Given the description of an element on the screen output the (x, y) to click on. 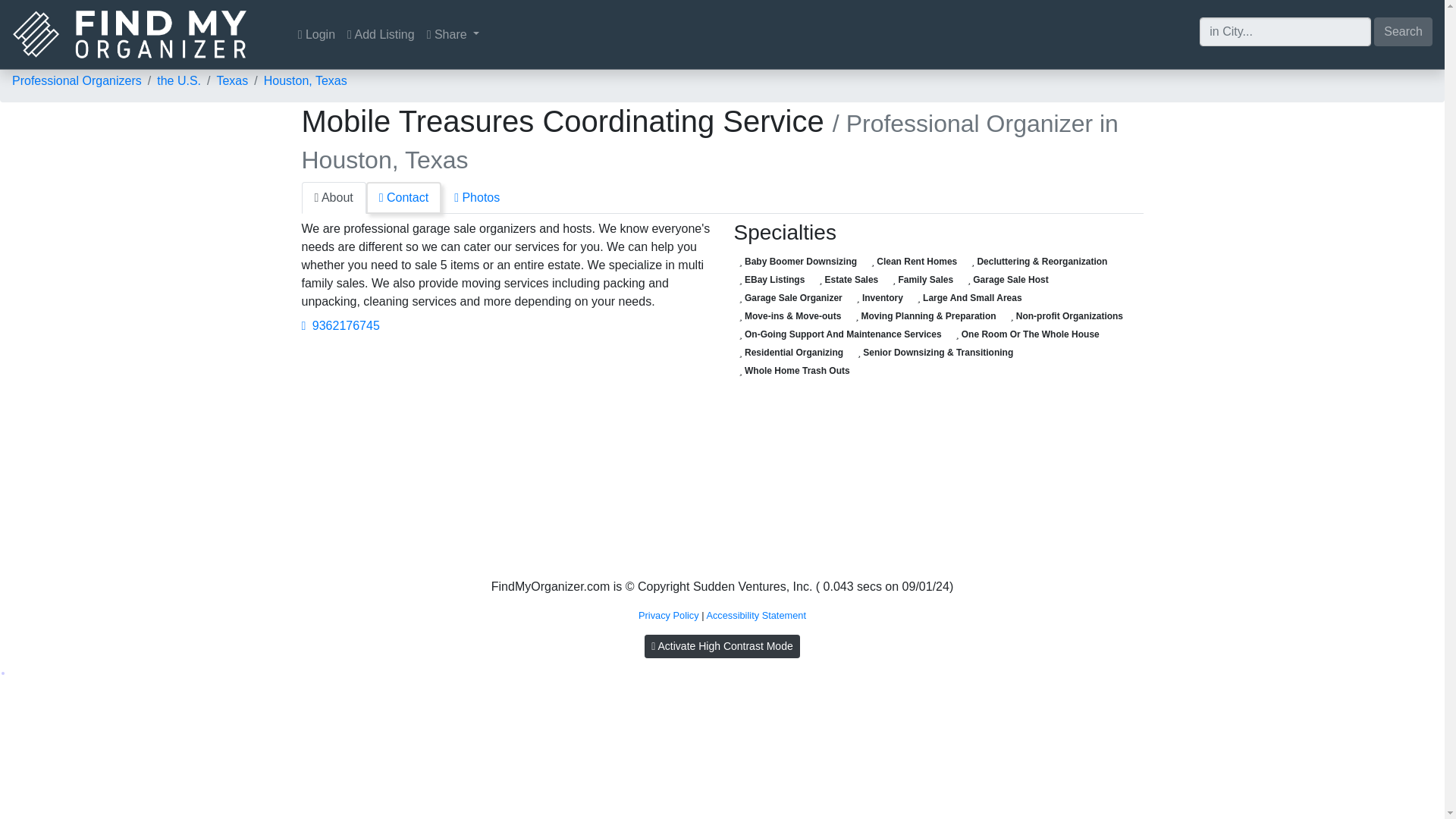
Photos (476, 197)
Share (453, 34)
9362176745 (340, 325)
About (333, 197)
Login (316, 34)
Houston, Texas (305, 80)
Accessibility Statement (756, 614)
Add Listing (380, 34)
Search (1403, 30)
Texas (231, 80)
